Given the description of an element on the screen output the (x, y) to click on. 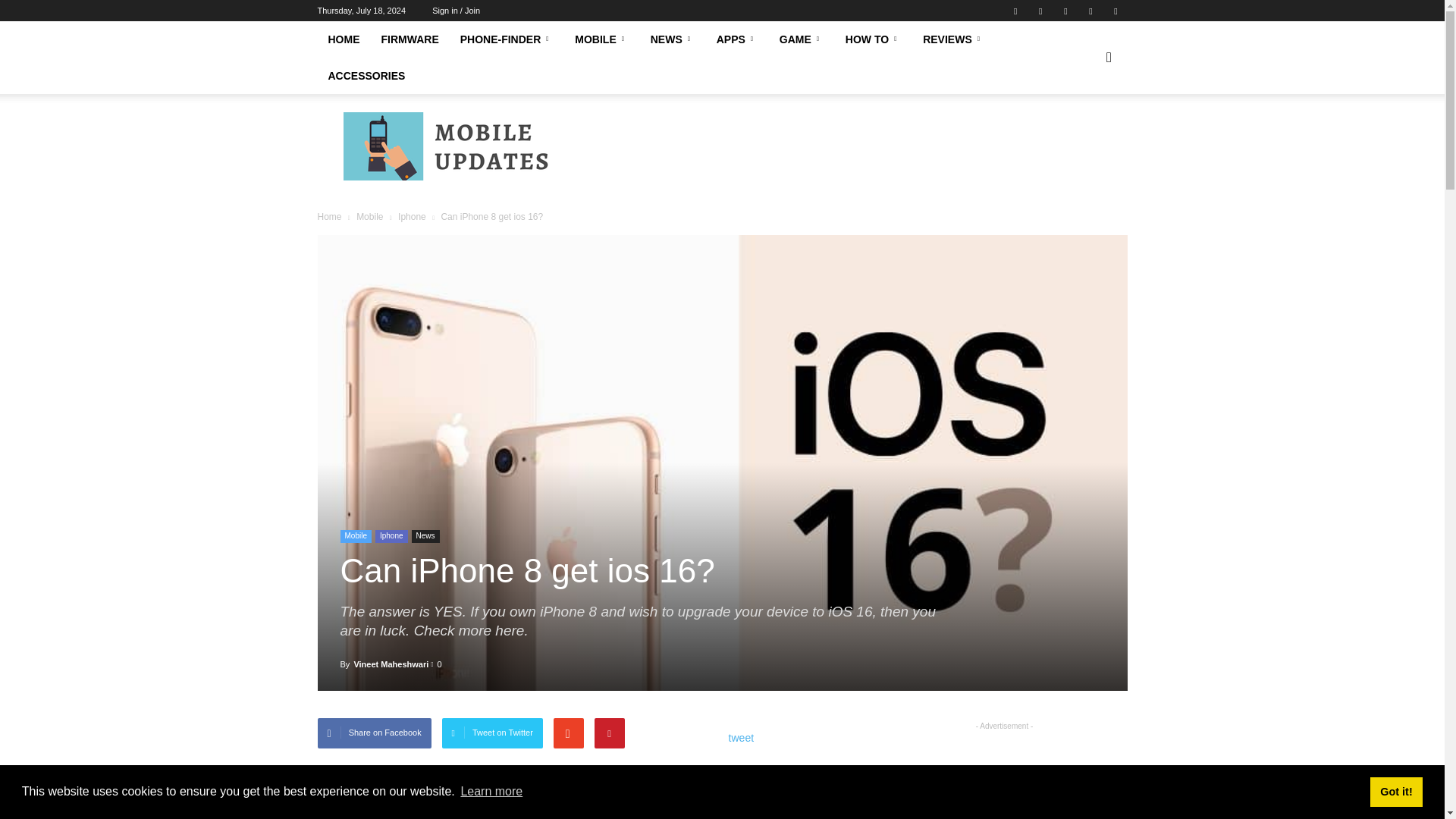
Learn more (491, 791)
Youtube (1114, 10)
VKontakte (1090, 10)
Got it! (1396, 791)
Twitter (1040, 10)
Facebook (1015, 10)
Vimeo (1065, 10)
